Given the description of an element on the screen output the (x, y) to click on. 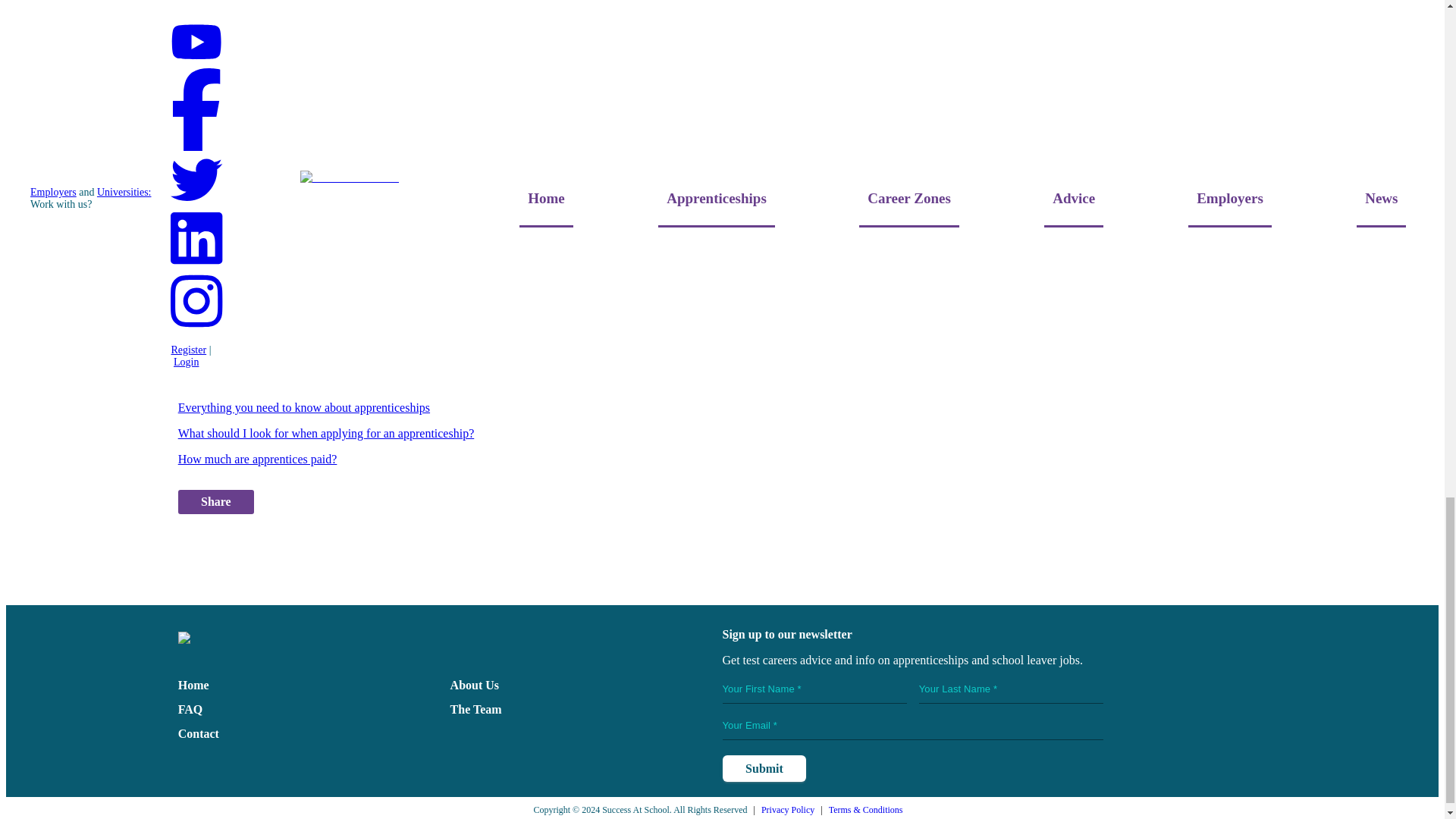
Contact (198, 733)
FAQ (190, 708)
Privacy Policy (787, 809)
Submit (763, 768)
Home (193, 684)
The Team (475, 708)
Share (215, 501)
About Us (474, 684)
Everything you need to know about apprenticeships (303, 407)
How much are apprentices paid? (257, 459)
What should I look for when applying for an apprenticeship? (325, 432)
